Given the description of an element on the screen output the (x, y) to click on. 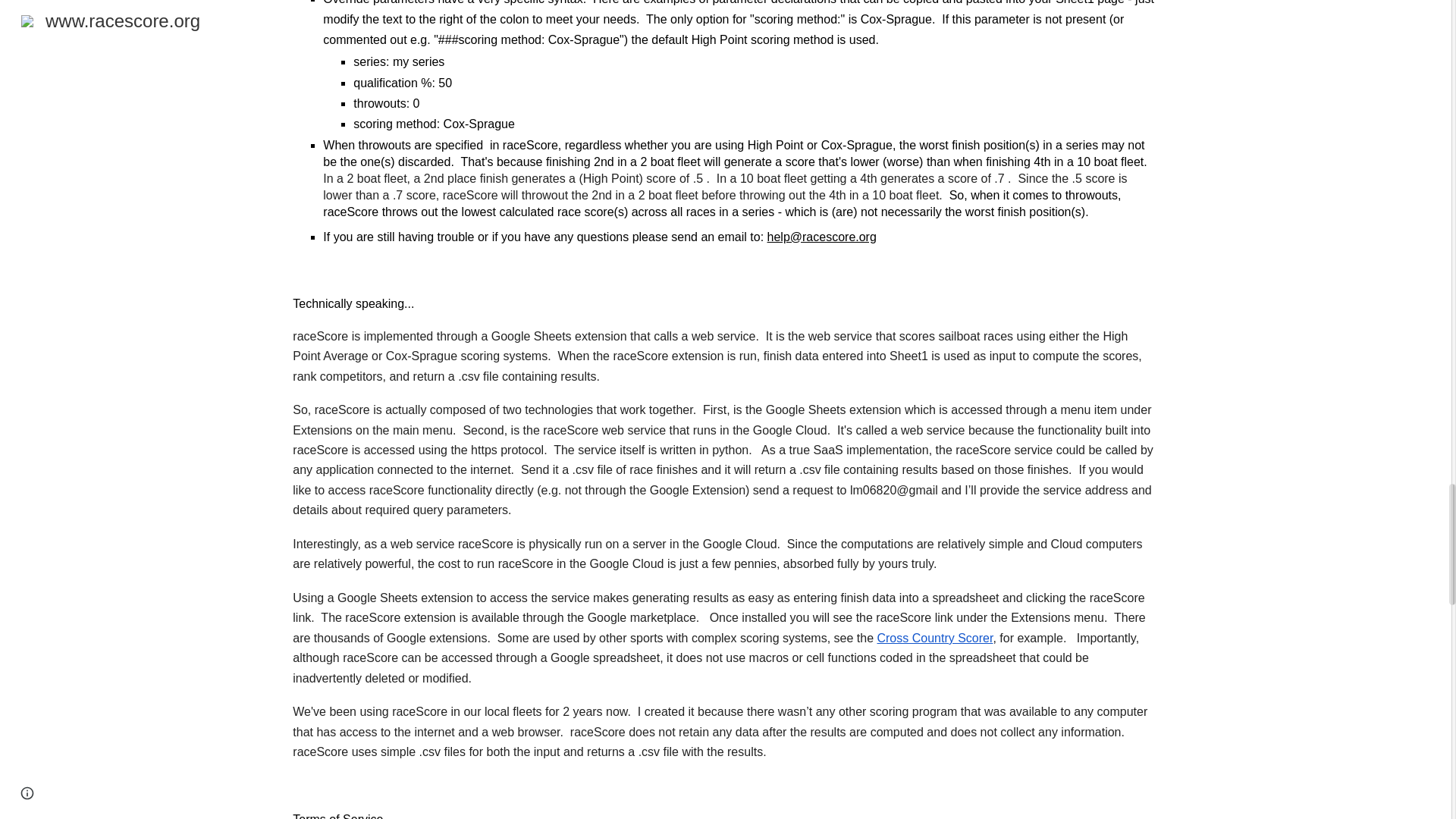
Cross Country Scorer (932, 637)
